Given the description of an element on the screen output the (x, y) to click on. 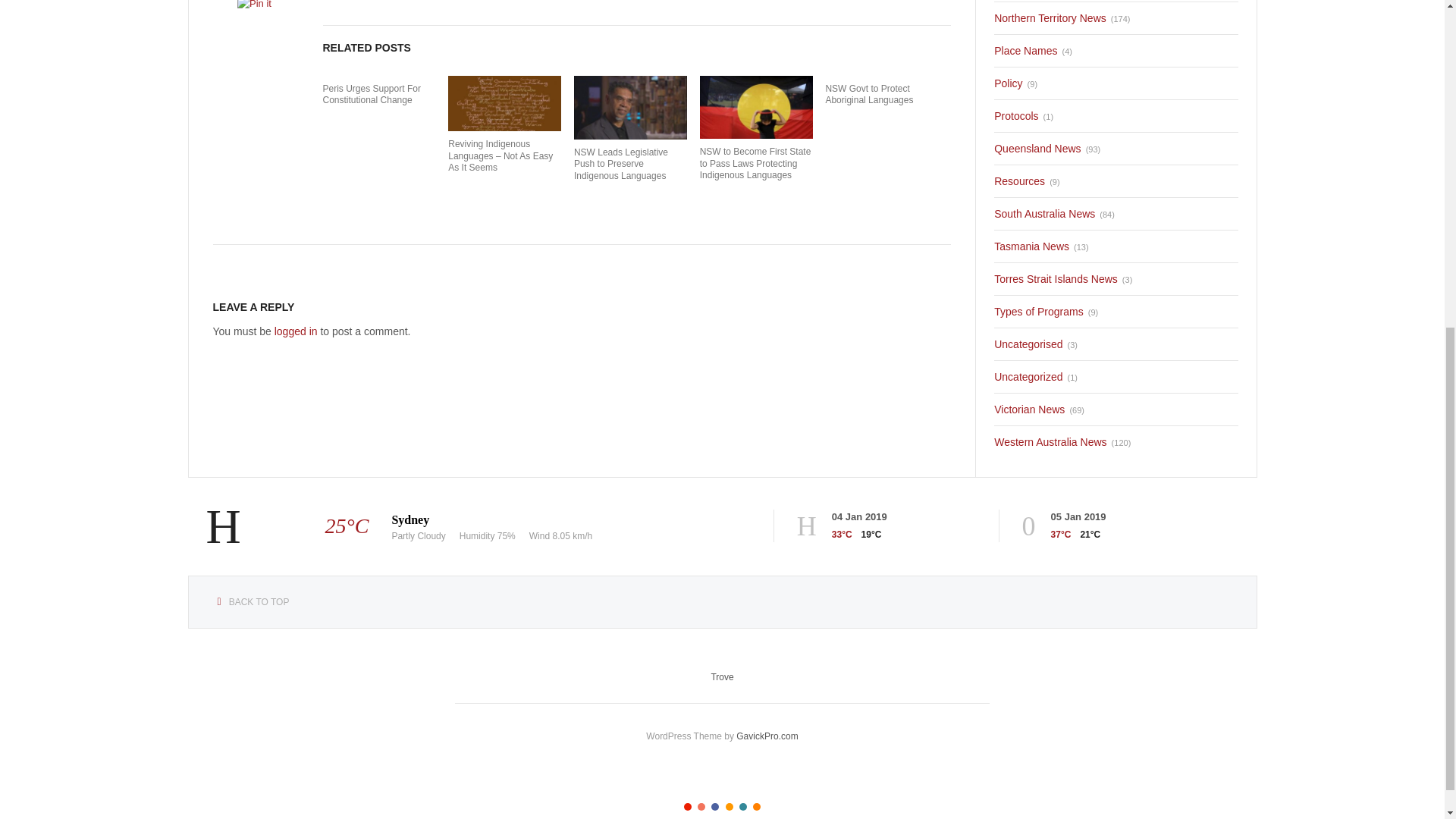
Permalink to Peris Urges Support For Constitutional Change (379, 95)
NSW Govt to Protect Aboriginal Languages (881, 95)
logged in (296, 331)
NSW Leads Legislative Push to Preserve Indigenous Languages (630, 164)
Peris Urges Support For Constitutional Change (379, 95)
Pin it (253, 6)
Permalink to NSW Govt to Protect Aboriginal Languages (881, 95)
